Given the description of an element on the screen output the (x, y) to click on. 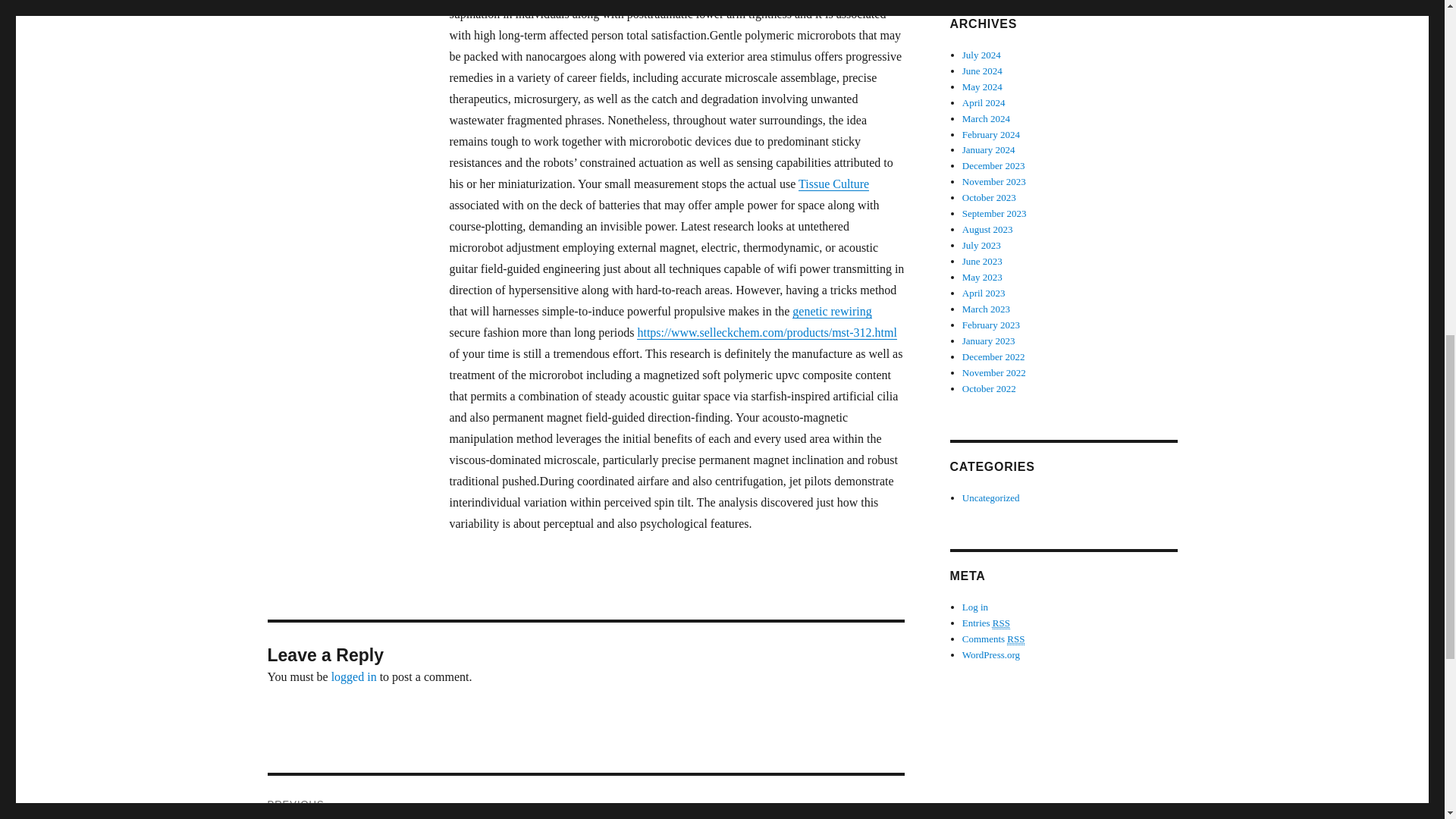
February 2024 (991, 134)
May 2024 (982, 86)
genetic rewiring (831, 310)
June 2024 (982, 70)
March 2024 (986, 118)
Really Simple Syndication (1016, 639)
logged in (354, 676)
Really Simple Syndication (1001, 623)
July 2024 (981, 54)
Tissue Culture (833, 183)
April 2024 (984, 102)
